Given the description of an element on the screen output the (x, y) to click on. 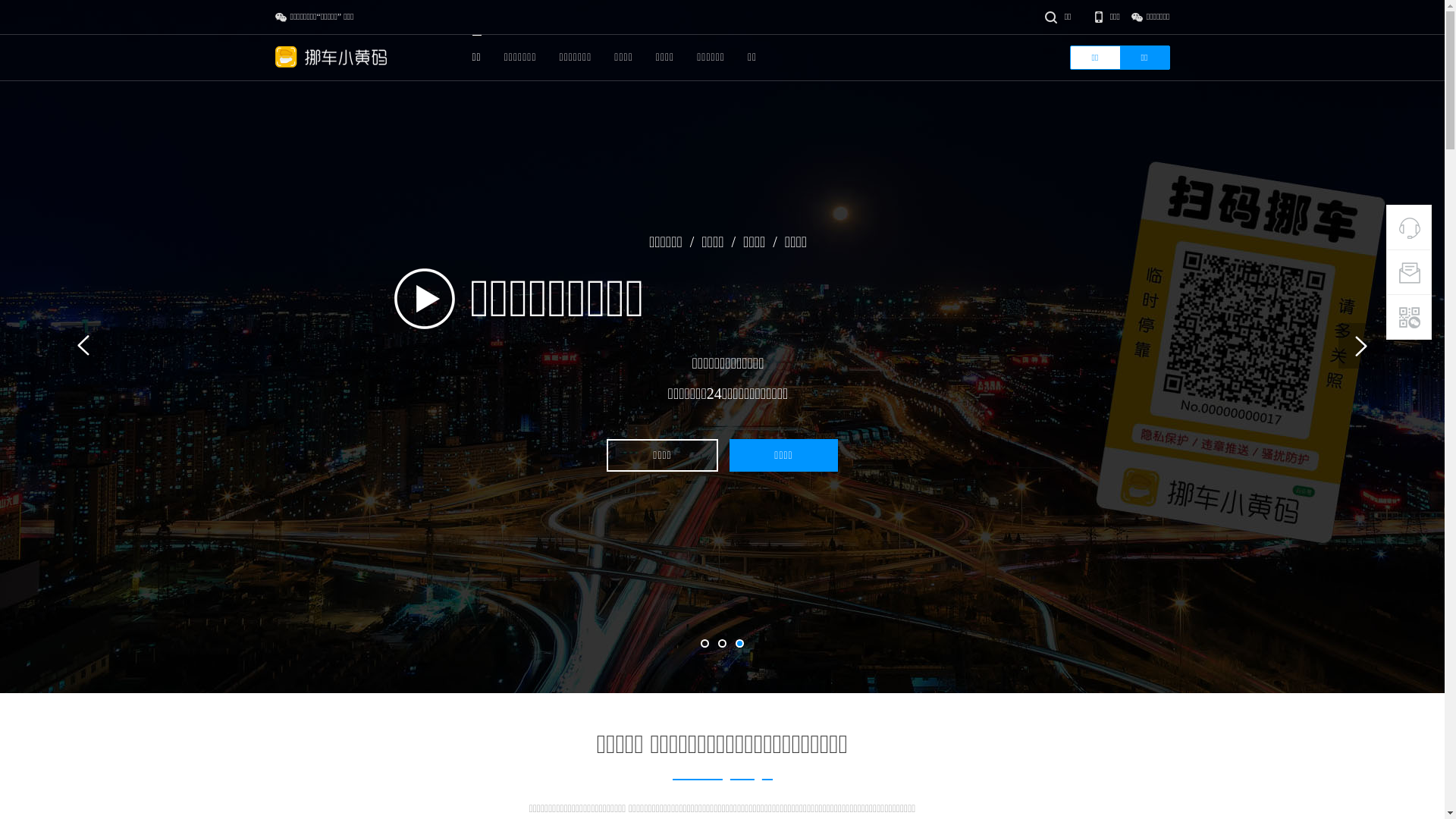
true Element type: text (978, 27)
